Given the description of an element on the screen output the (x, y) to click on. 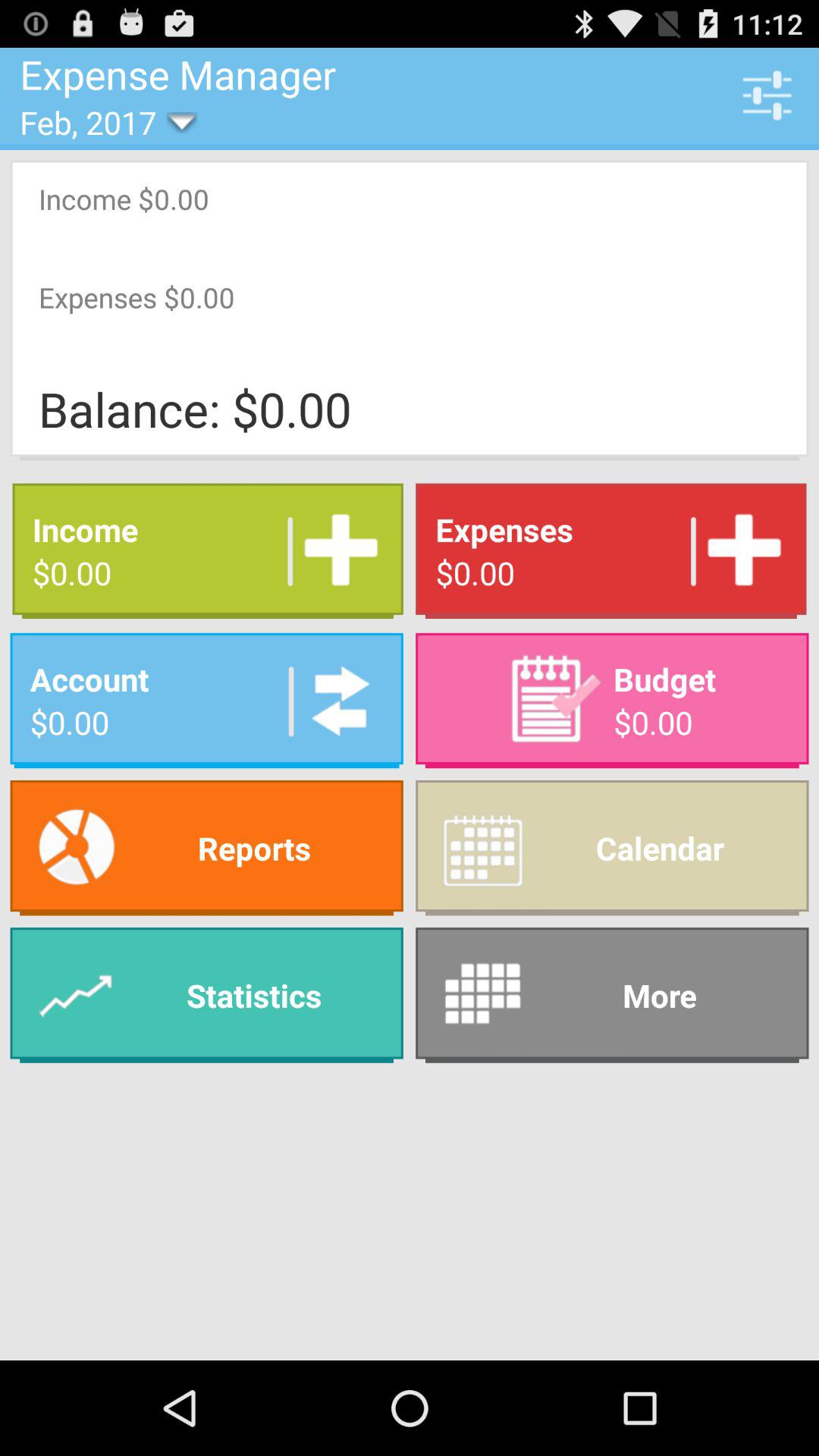
click the icon next to the expense manager (767, 95)
